Given the description of an element on the screen output the (x, y) to click on. 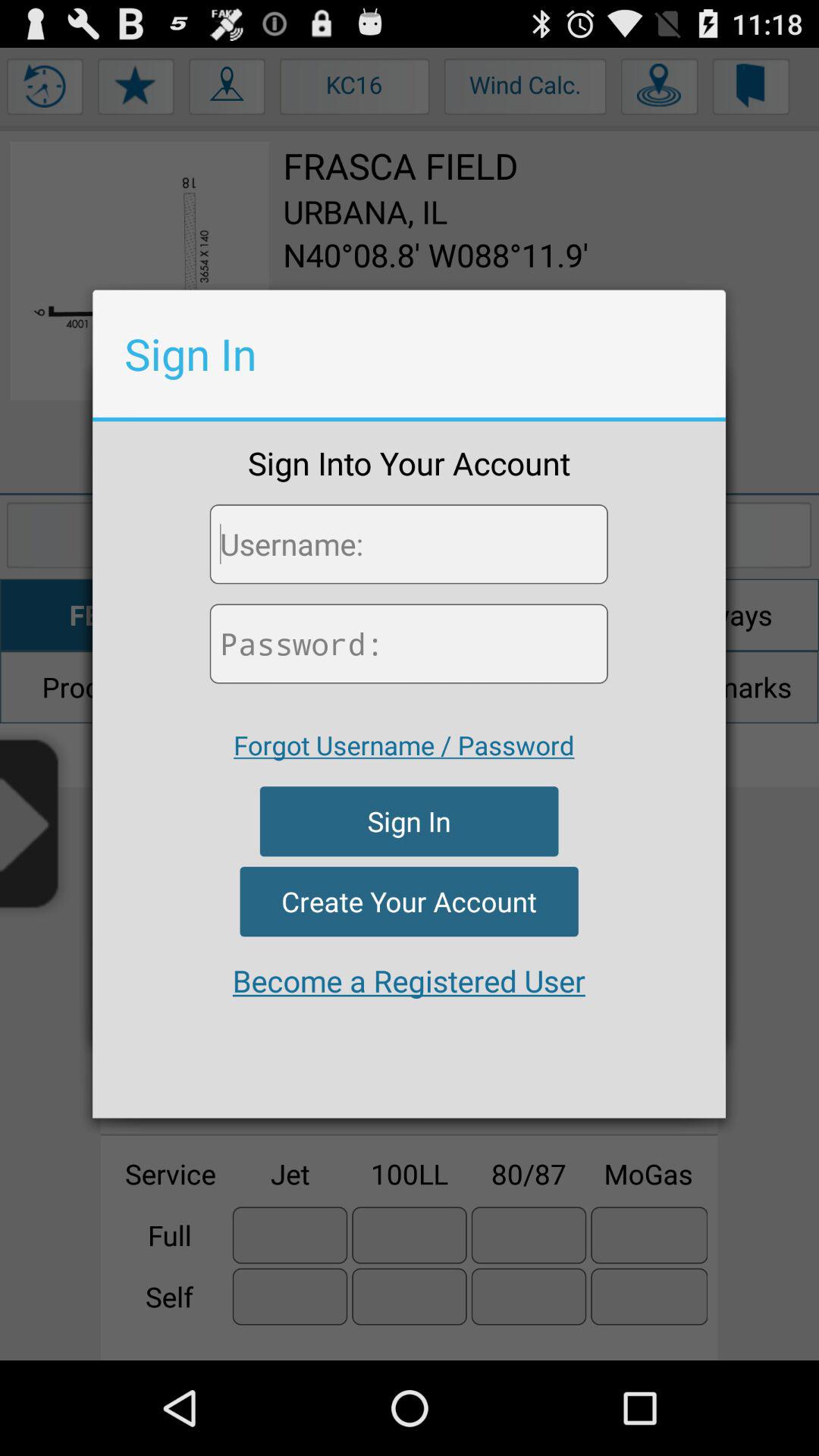
click icon at the bottom (408, 980)
